Given the description of an element on the screen output the (x, y) to click on. 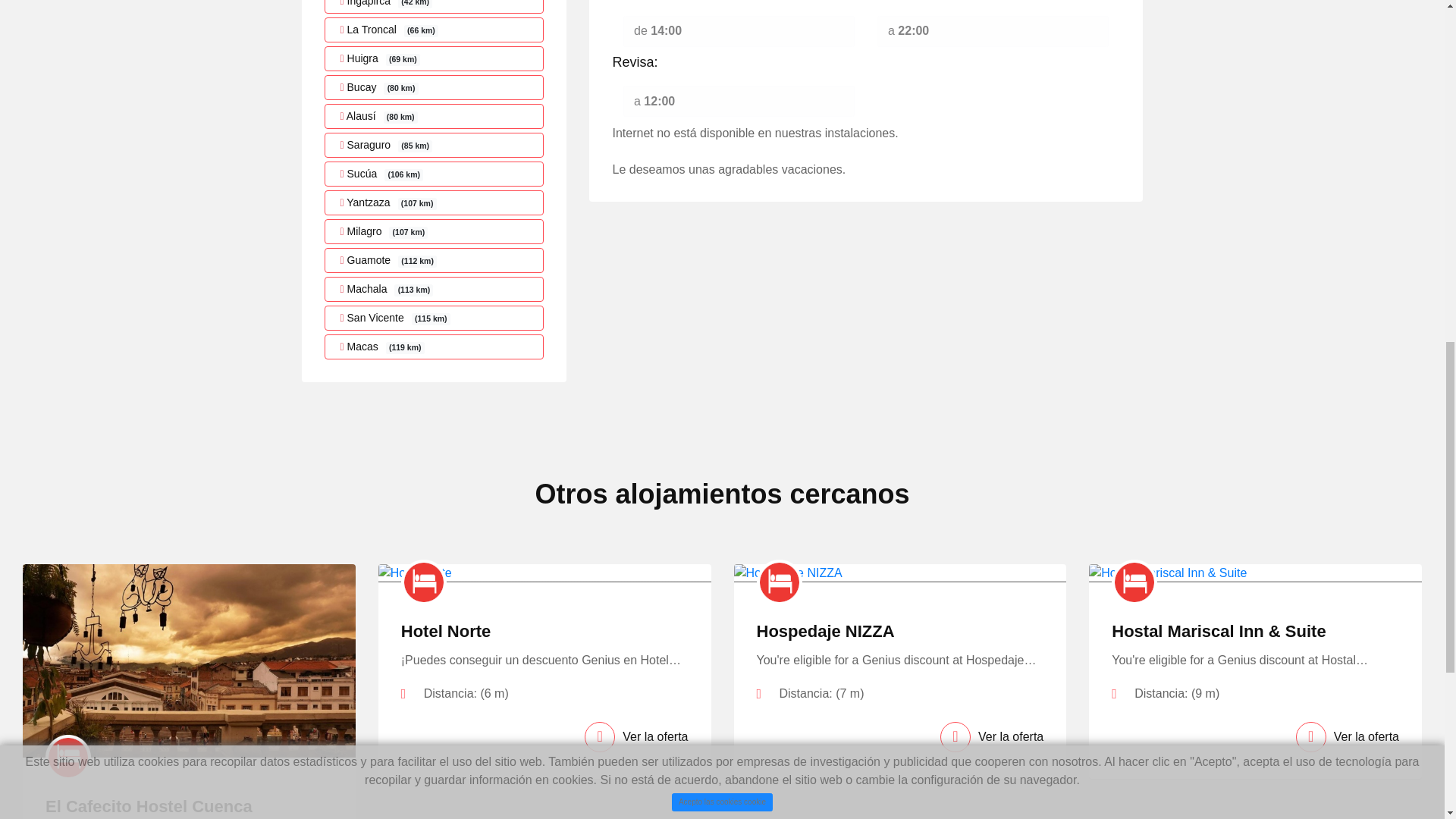
Alojamiento Macas (434, 346)
Alojamiento Saraguro (434, 145)
Ver la oferta (636, 736)
Alojamiento Guamote (434, 260)
Hotel Norte (446, 630)
Alojamiento San Vicente (434, 317)
Alojamiento Milagro (434, 231)
Alojamiento Bucay (434, 87)
Alojamiento Huigra (434, 58)
Alojamiento Machala (434, 289)
